Given the description of an element on the screen output the (x, y) to click on. 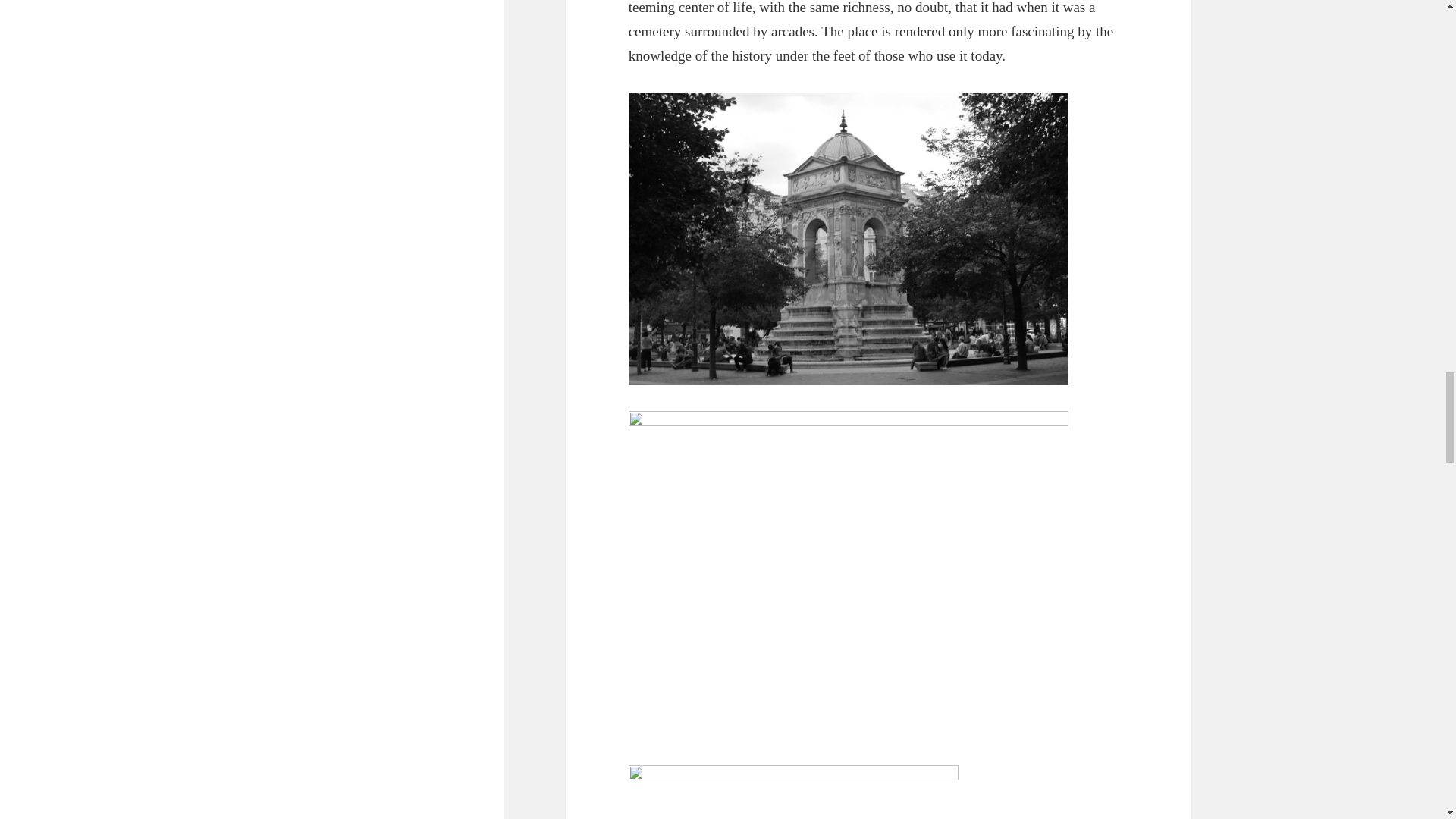
Fontaine des Innocents (793, 791)
